Given the description of an element on the screen output the (x, y) to click on. 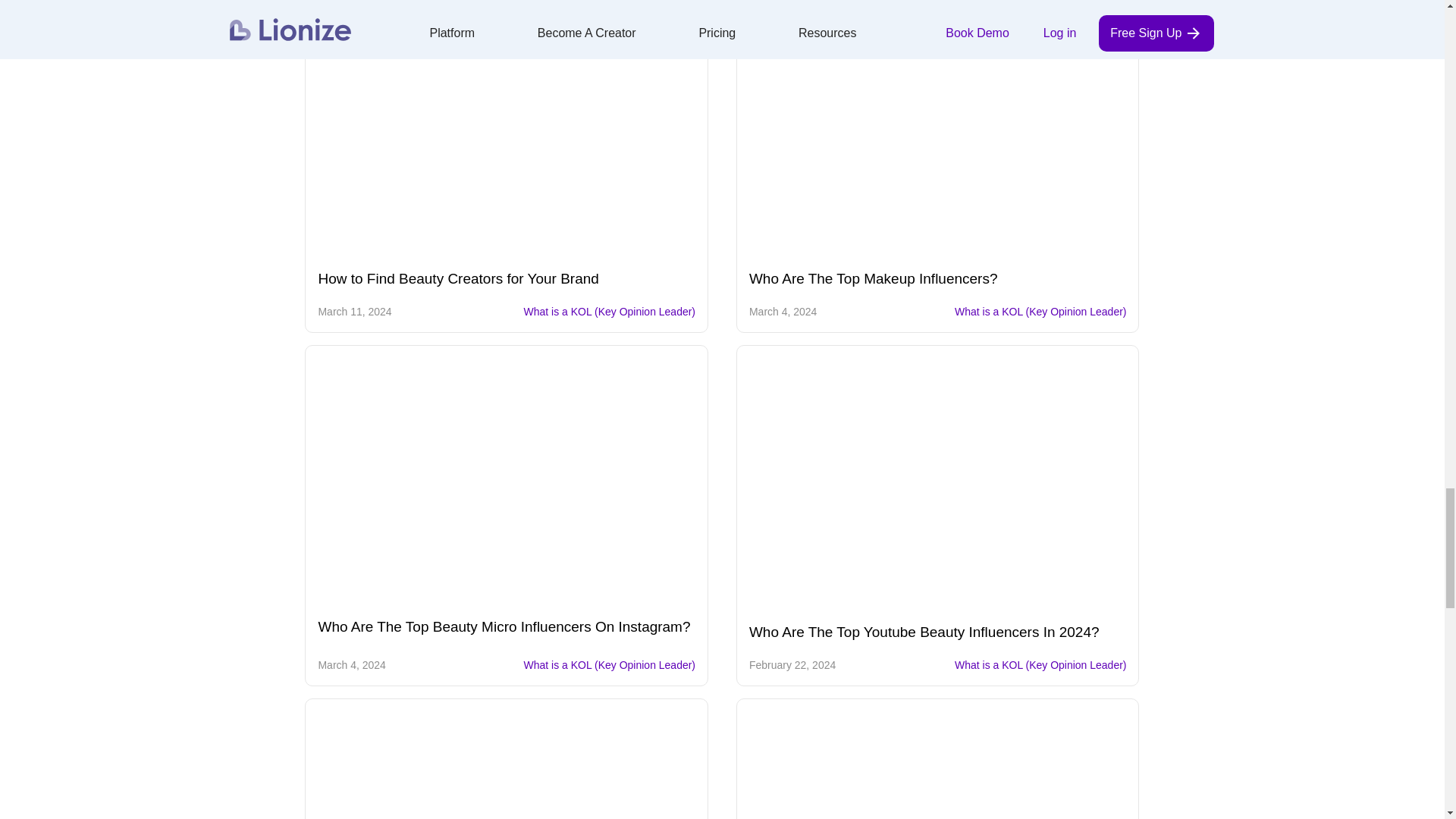
Who Are The Top Beauty Micro Influencers On Instagram? (506, 483)
How to Find Beauty Creators for Your Brand (506, 135)
Who Are The Top Food Influencers On Instagram? (506, 765)
Who Are The Top Youtube Beauty Influencers In 2024? (937, 486)
Who Are The Top Makeup Influencers? (937, 135)
